Given the description of an element on the screen output the (x, y) to click on. 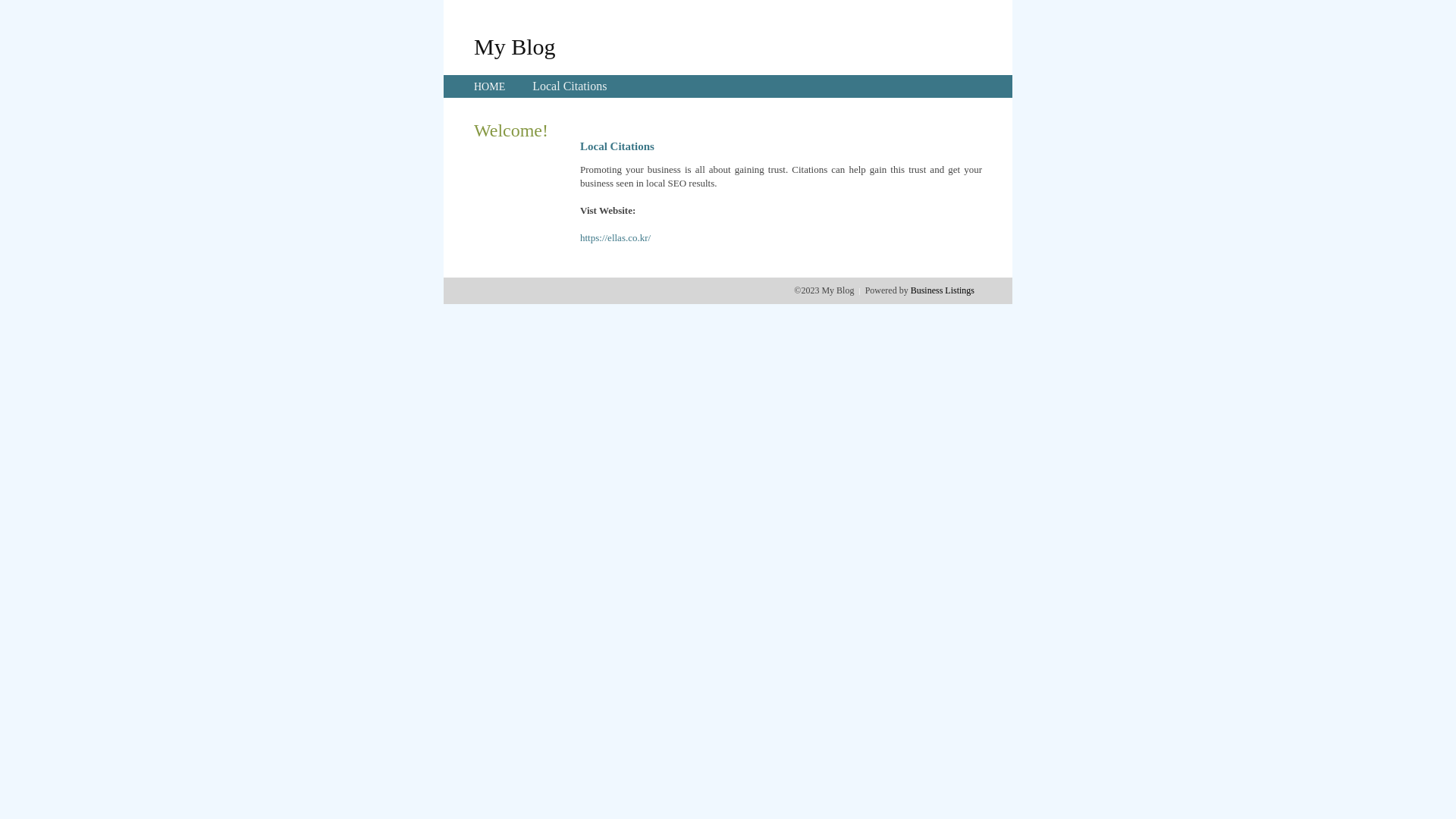
https://ellas.co.kr/ Element type: text (615, 237)
Local Citations Element type: text (569, 85)
My Blog Element type: text (514, 46)
Business Listings Element type: text (942, 290)
HOME Element type: text (489, 86)
